Given the description of an element on the screen output the (x, y) to click on. 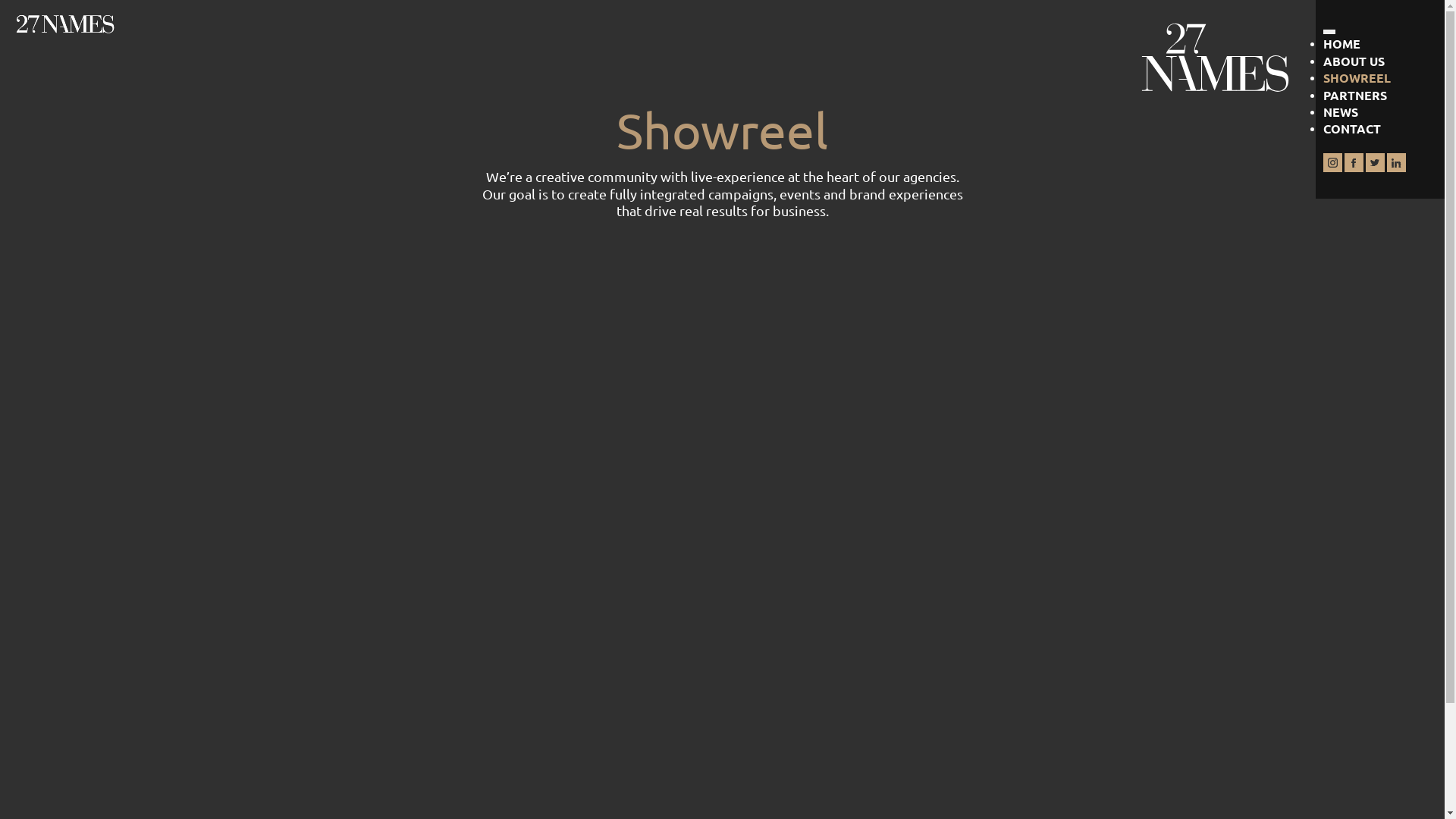
ABOUT US Element type: text (1353, 61)
SHOWREEL Element type: text (1356, 77)
HOME Element type: text (1341, 43)
NEWS Element type: text (1340, 111)
CONTACT Element type: text (1351, 128)
PARTNERS Element type: text (1354, 95)
